Given the description of an element on the screen output the (x, y) to click on. 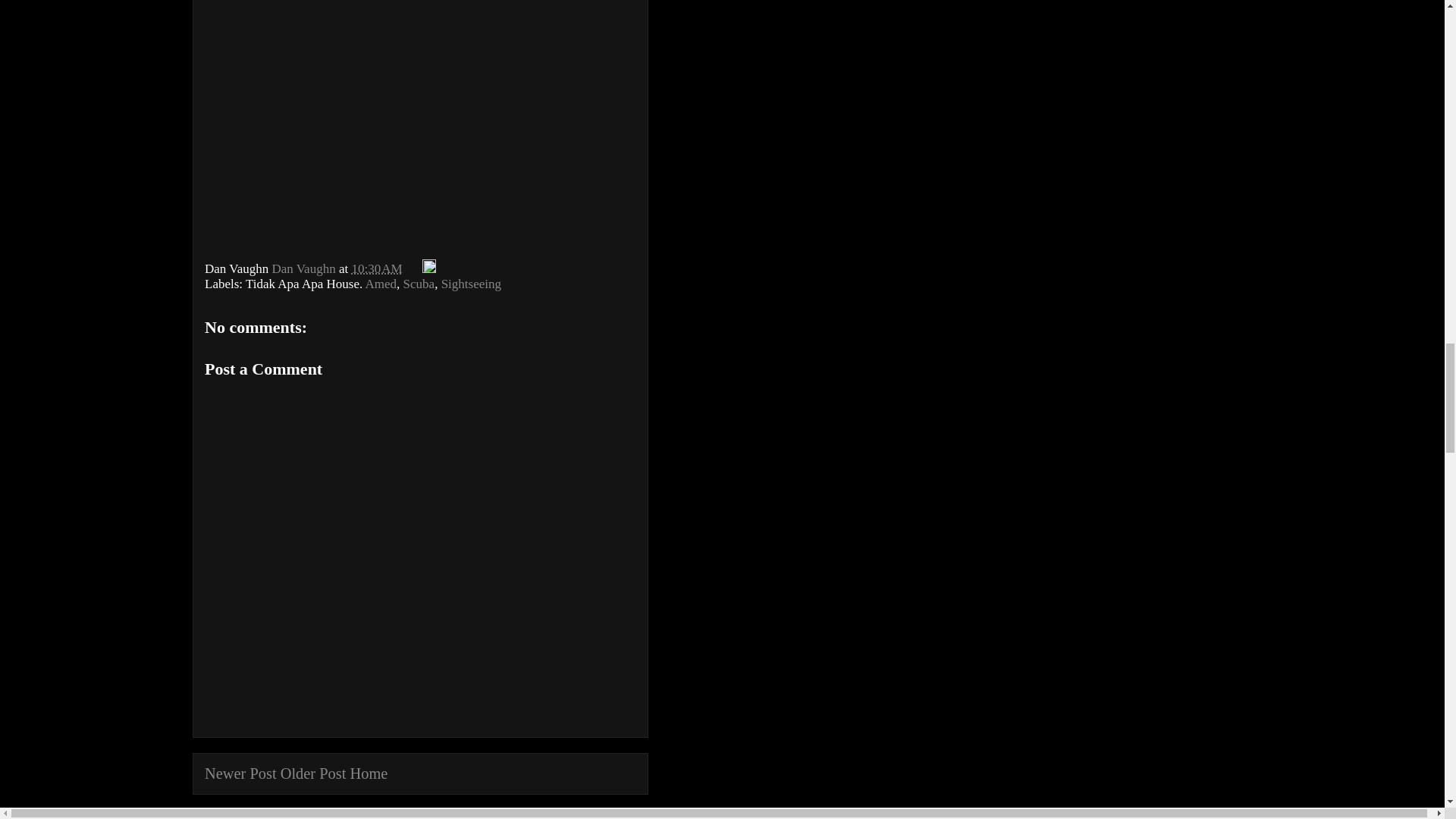
Home (368, 773)
Dan Vaughn (303, 268)
Scuba (419, 283)
Older Post (313, 773)
Newer Post (240, 773)
Edit Post (428, 268)
permanent link (375, 268)
Older Post (313, 773)
Sightseeing (470, 283)
author profile (303, 268)
Email Post (414, 268)
Newer Post (240, 773)
Amed (381, 283)
